Given the description of an element on the screen output the (x, y) to click on. 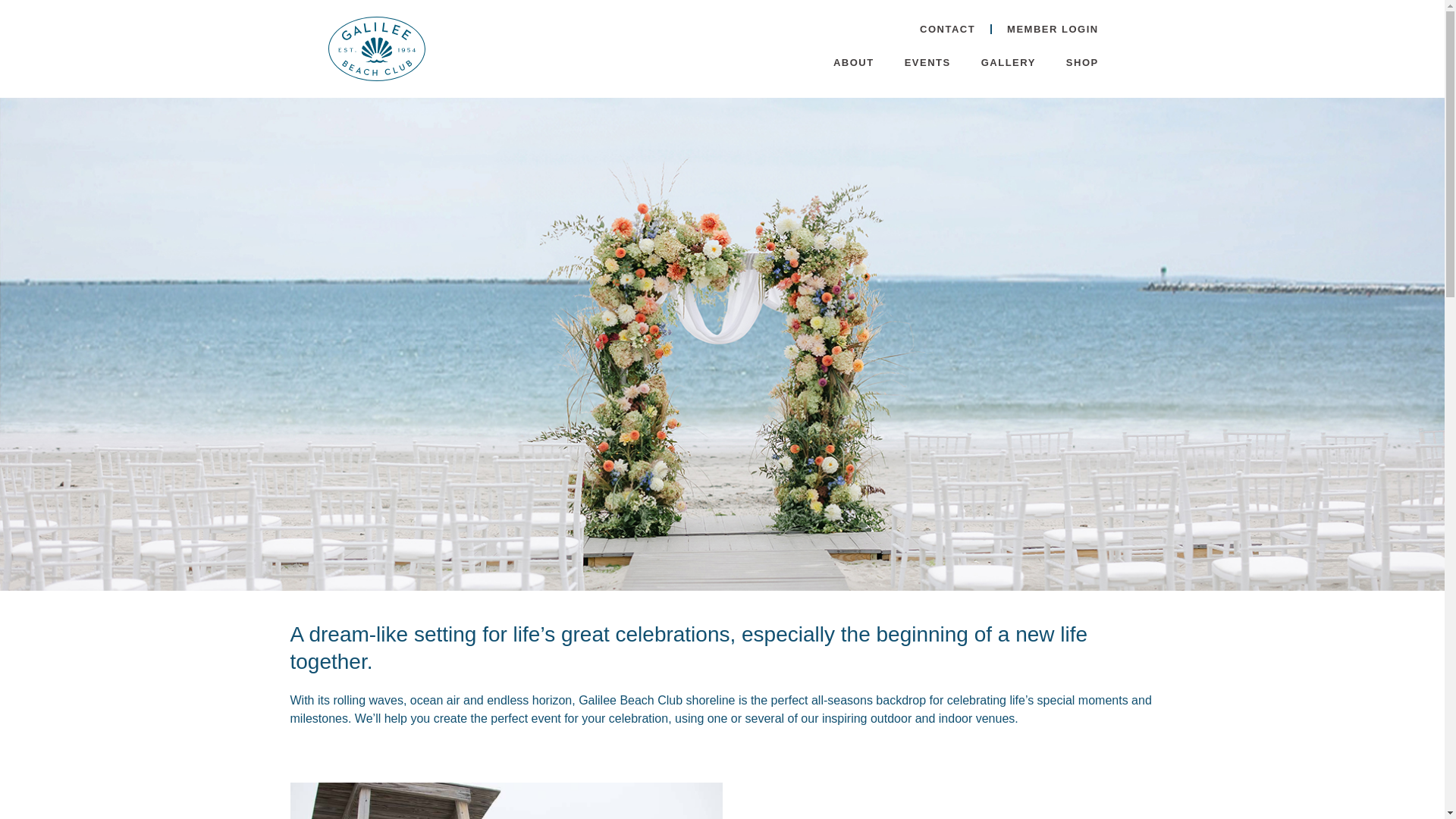
EVENTS (927, 62)
ABOUT (853, 62)
GALLERY (1008, 62)
MEMBER LOGIN (1052, 29)
SHOP (1082, 62)
CONTACT (947, 29)
